Given the description of an element on the screen output the (x, y) to click on. 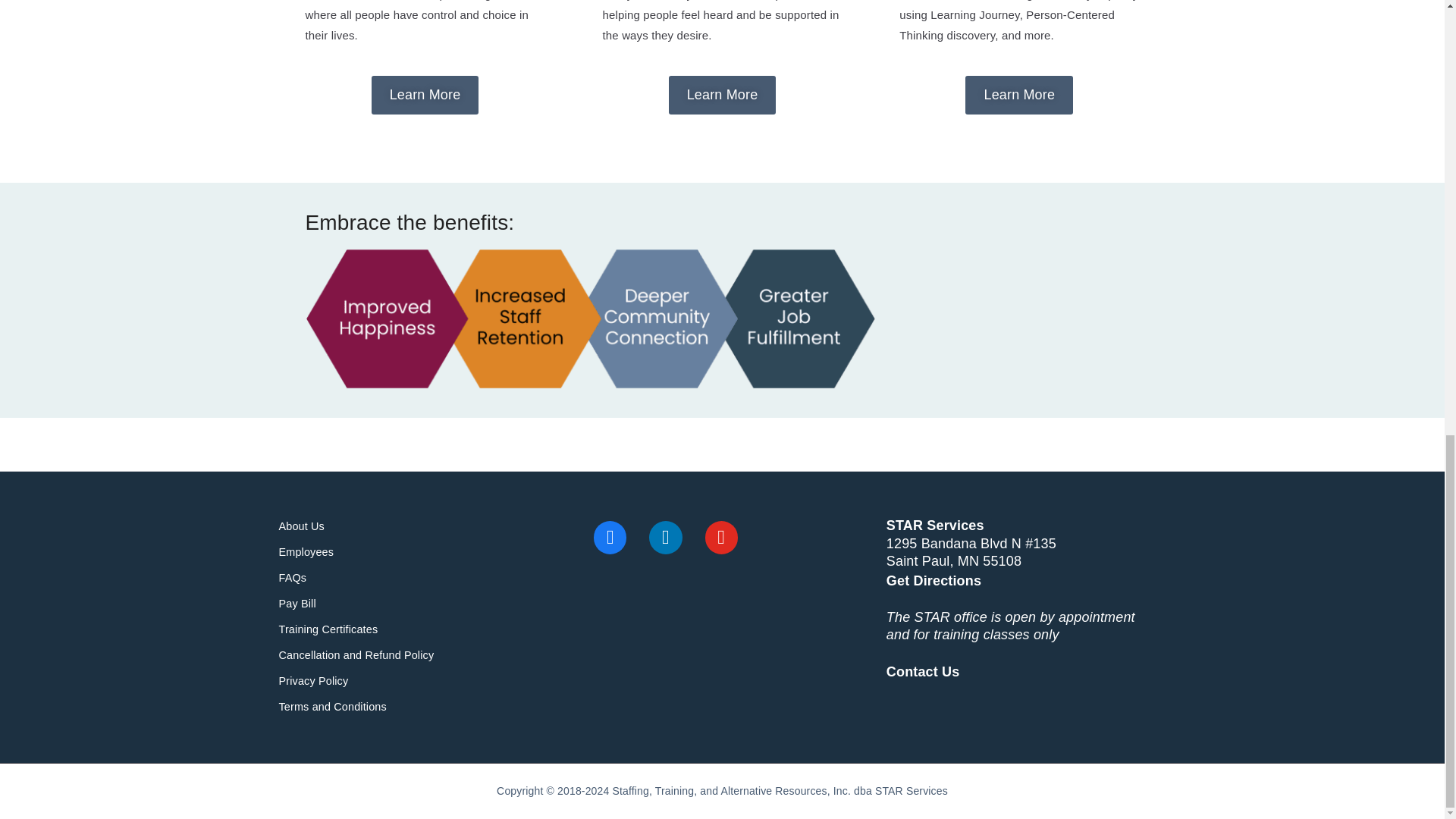
Linkedin (665, 536)
Facebook (609, 536)
Youtube (721, 536)
